Given the description of an element on the screen output the (x, y) to click on. 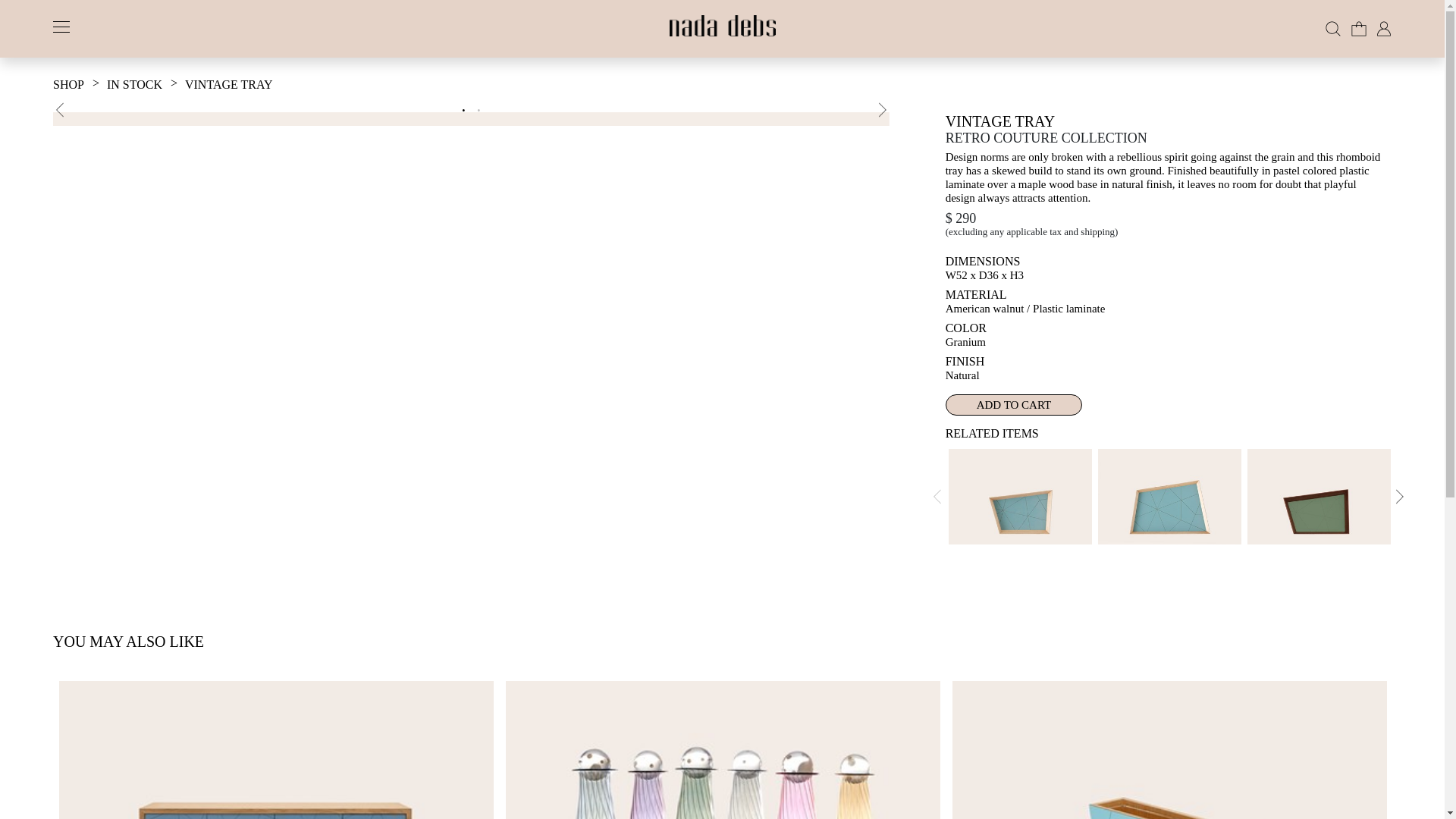
Vintage Tray Blue Small (1019, 496)
Vintage Tray Blue Large (1169, 496)
Vintage Tray Green Small (1318, 496)
